Given the description of an element on the screen output the (x, y) to click on. 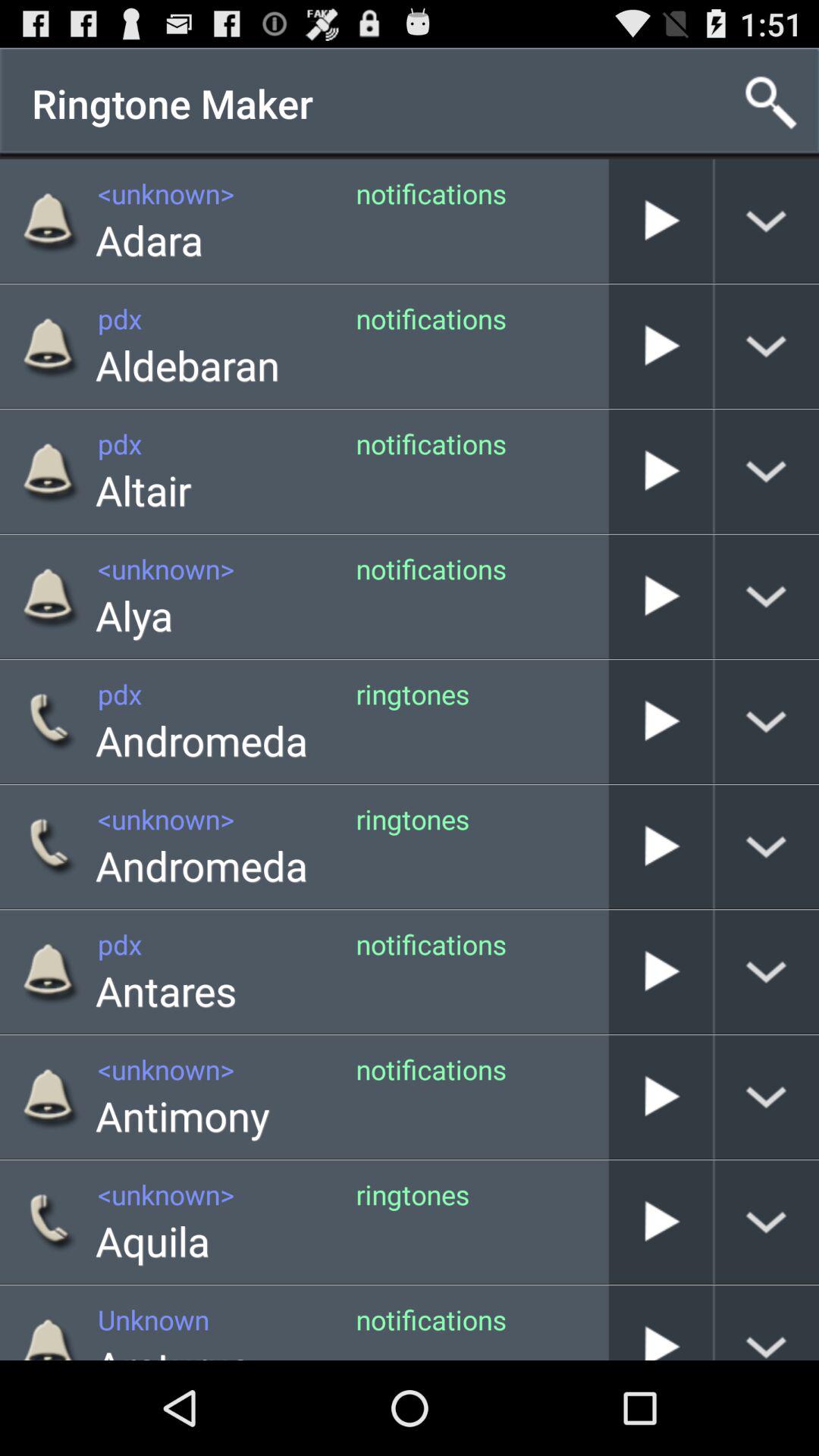
tap the icon next to notifications (143, 489)
